Given the description of an element on the screen output the (x, y) to click on. 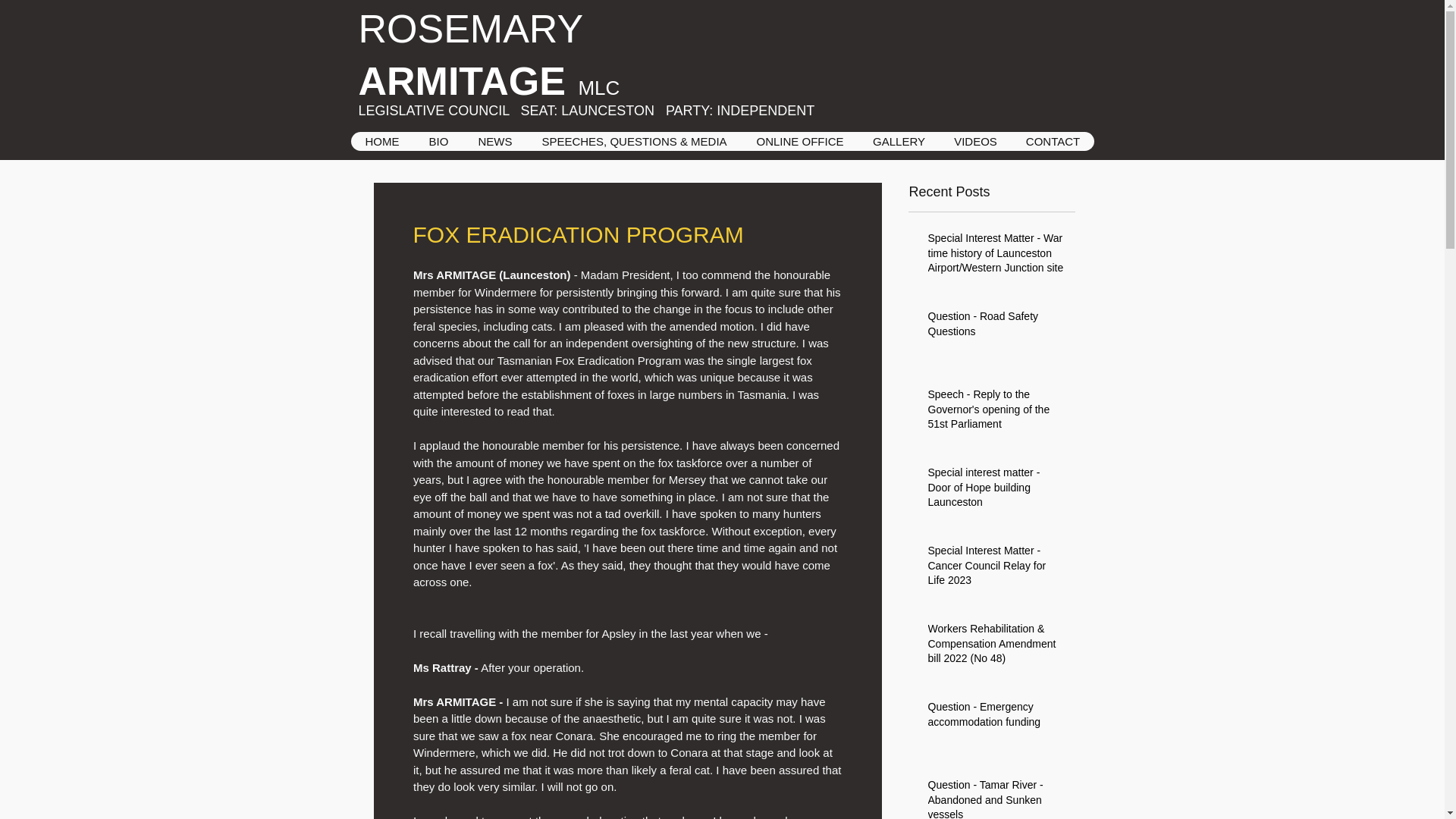
Special Interest Matter - Cancer Council Relay for Life 2023 (996, 568)
VIDEOS (974, 140)
MLC (599, 87)
ONLINE OFFICE (800, 140)
NEWS (494, 140)
Question - Tamar River - Abandoned and Sunken vessels (996, 798)
Question - Road Safety Questions (996, 326)
CONTACT (1052, 140)
ROSEMARY ARMITAGE (470, 54)
Question - Emergency accommodation funding (996, 717)
Special interest matter - Door of Hope building Launceston (996, 491)
GALLERY (899, 140)
HOME (381, 140)
BIO (438, 140)
